Given the description of an element on the screen output the (x, y) to click on. 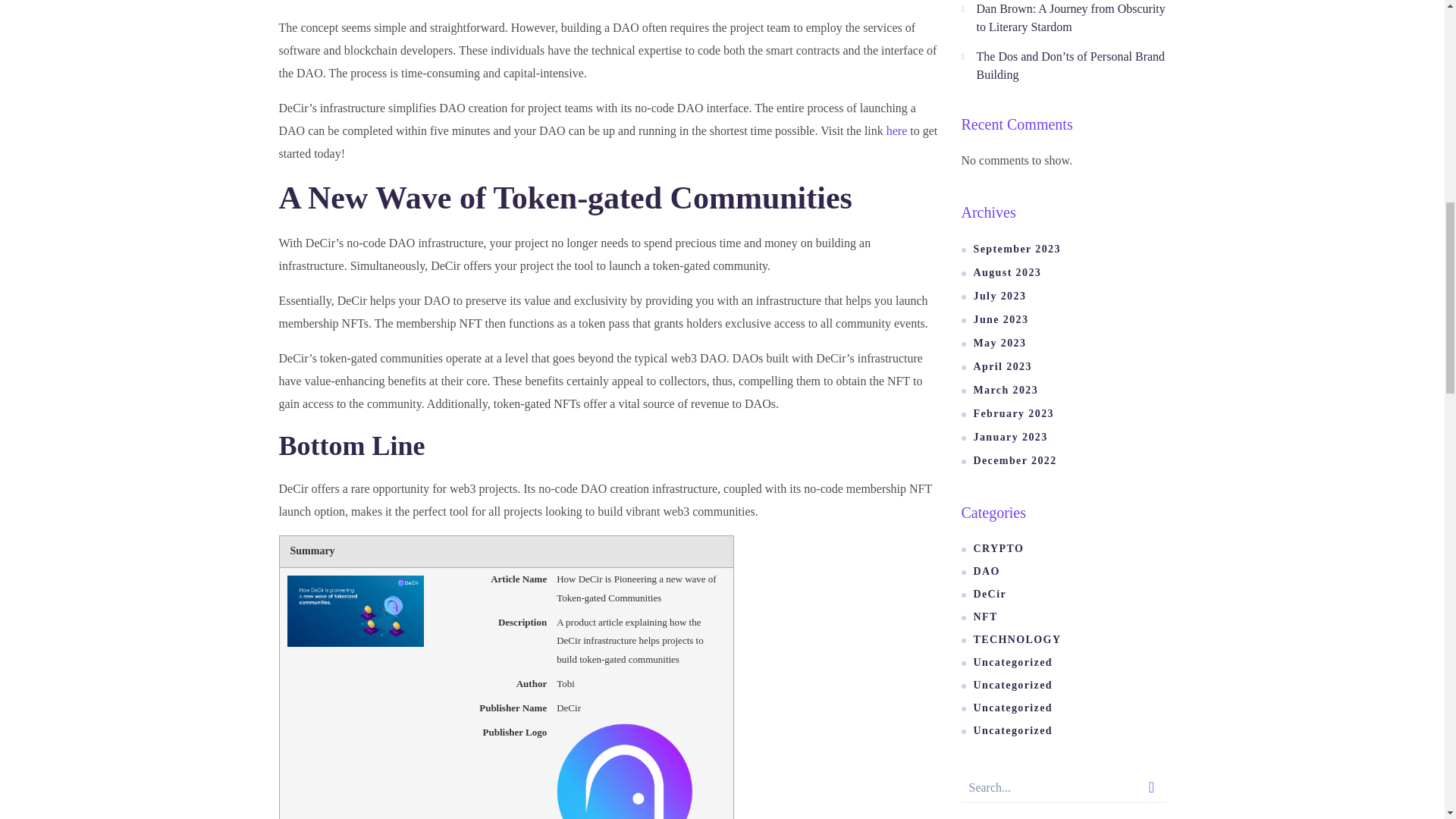
here (896, 130)
Search (1151, 788)
Search (1151, 788)
